Given the description of an element on the screen output the (x, y) to click on. 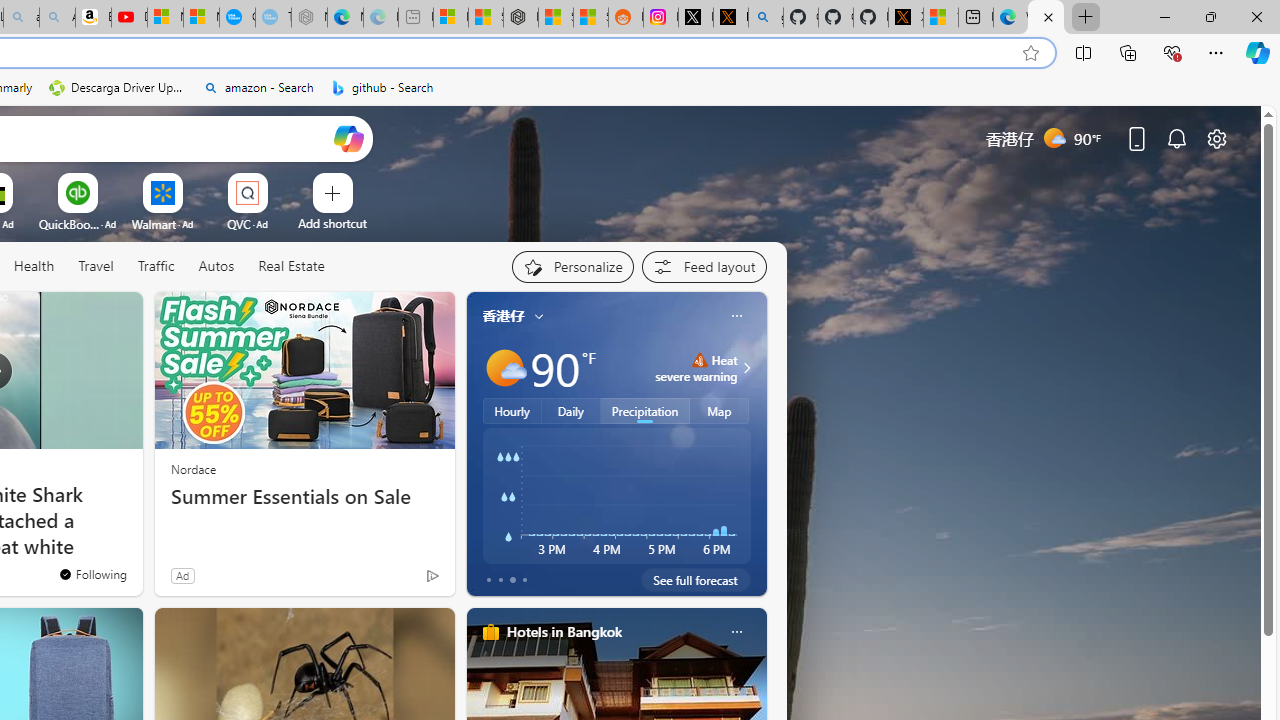
More options (736, 631)
Nordace - Nordace has arrived Hong Kong - Sleeping (308, 17)
Class: weather-arrow-glyph (746, 367)
Amazon Echo Dot PNG - Search Images - Sleeping (57, 17)
Real Estate (291, 265)
Open Copilot (347, 138)
tab-1 (500, 579)
You're following FOX News (92, 573)
Browser essentials (1171, 52)
Travel (95, 265)
Ad Choice (432, 575)
Page settings (1216, 138)
Click to see more information (744, 367)
